Given the description of an element on the screen output the (x, y) to click on. 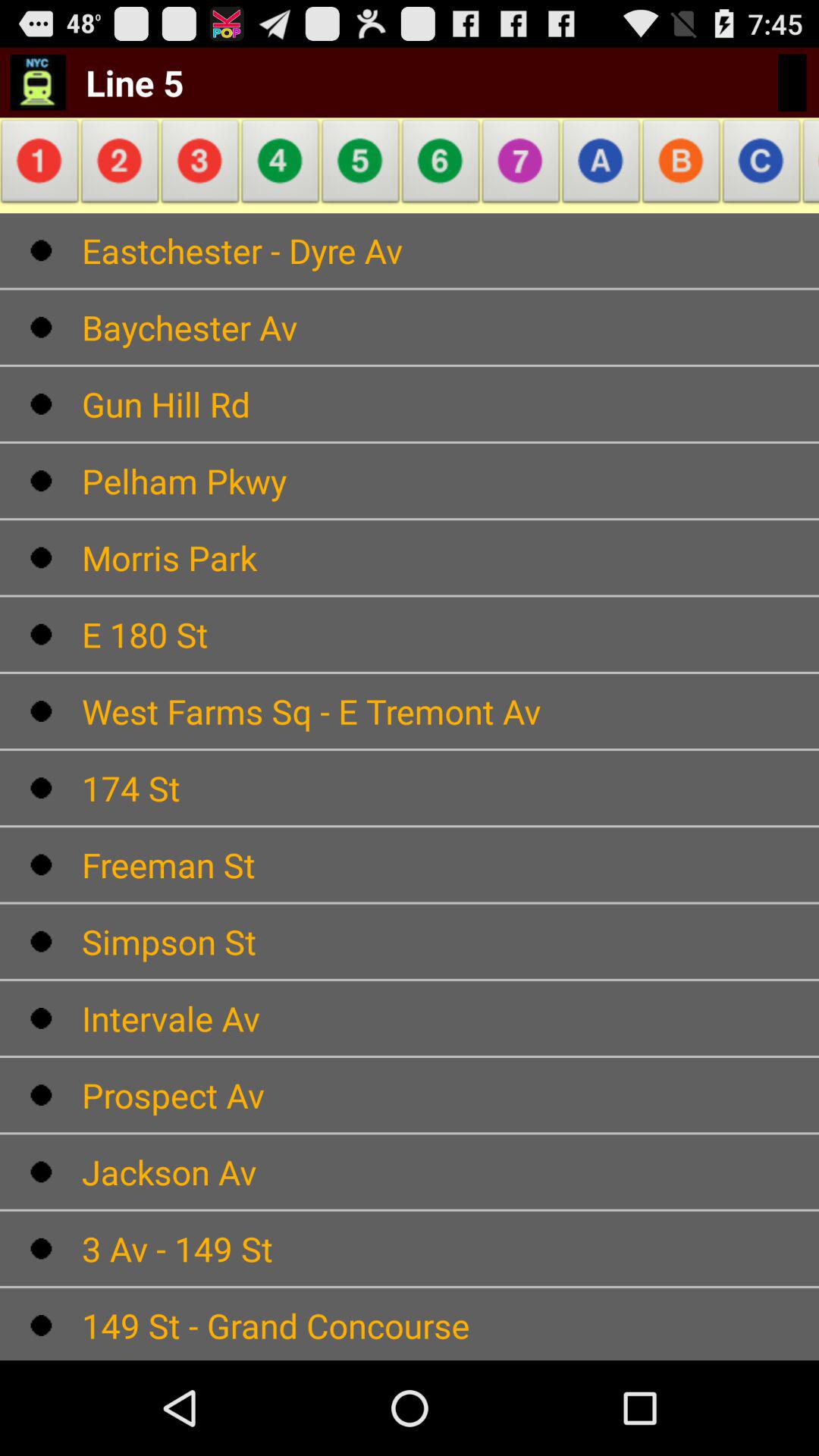
press item next to the line 5 icon (37, 82)
